Given the description of an element on the screen output the (x, y) to click on. 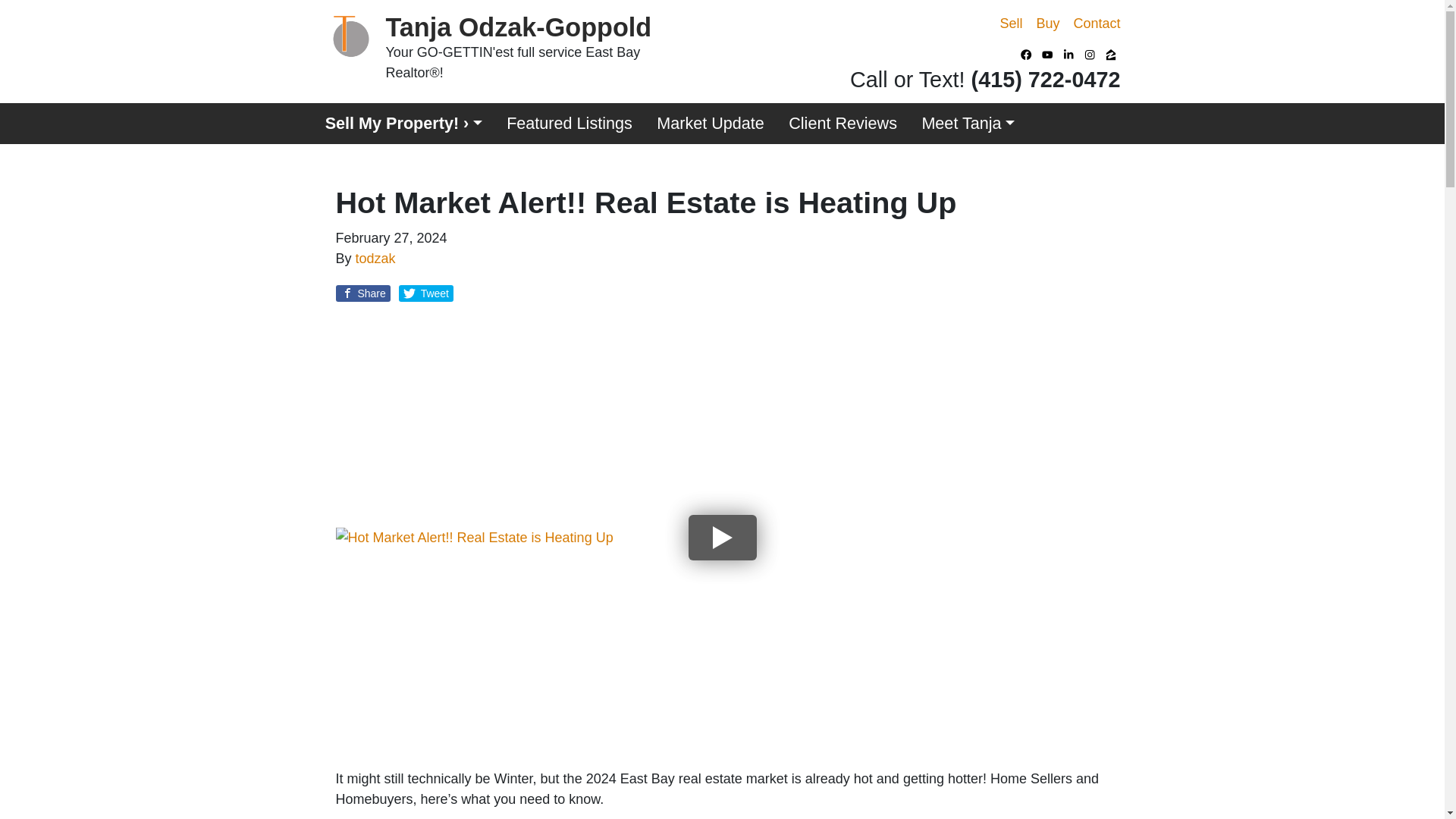
Market Update (710, 123)
Meet Tanja (967, 123)
Featured Listings (570, 123)
Contact (1095, 23)
Meet Tanja (967, 123)
Tweet (425, 293)
Client Reviews (842, 123)
todzak (375, 258)
Instagram (1090, 54)
YouTube (1048, 54)
Featured Listings (570, 123)
Zillow (1111, 54)
Facebook (1026, 54)
Buy (1047, 23)
Sell (1010, 23)
